Given the description of an element on the screen output the (x, y) to click on. 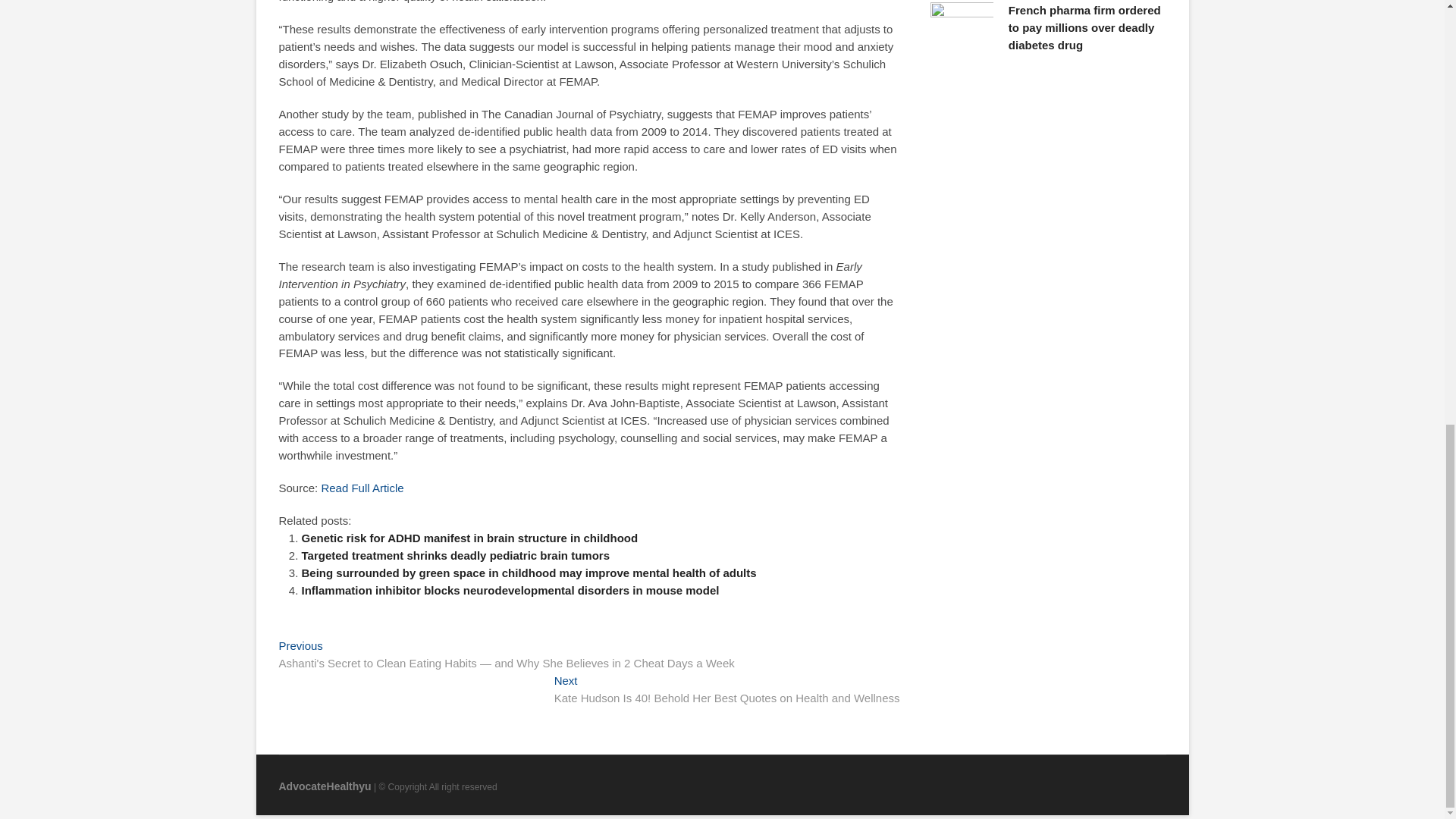
Read Full Article (361, 487)
Targeted treatment shrinks deadly pediatric brain tumors (455, 554)
Targeted treatment shrinks deadly pediatric brain tumors (455, 554)
